Given the description of an element on the screen output the (x, y) to click on. 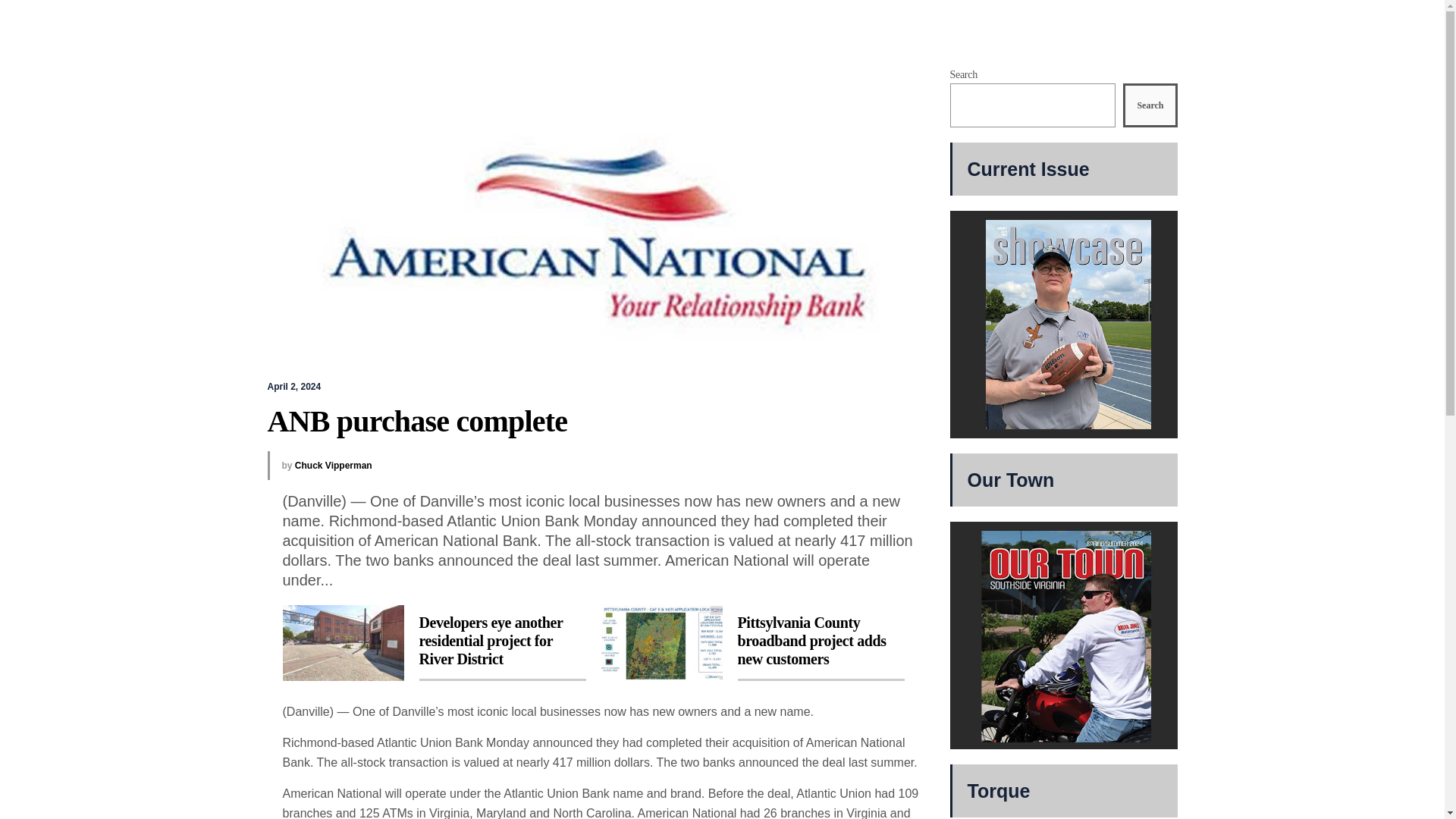
Chuck Vipperman (333, 465)
Search (1149, 105)
Pittsylvania County broadband project adds new customers (751, 642)
